Given the description of an element on the screen output the (x, y) to click on. 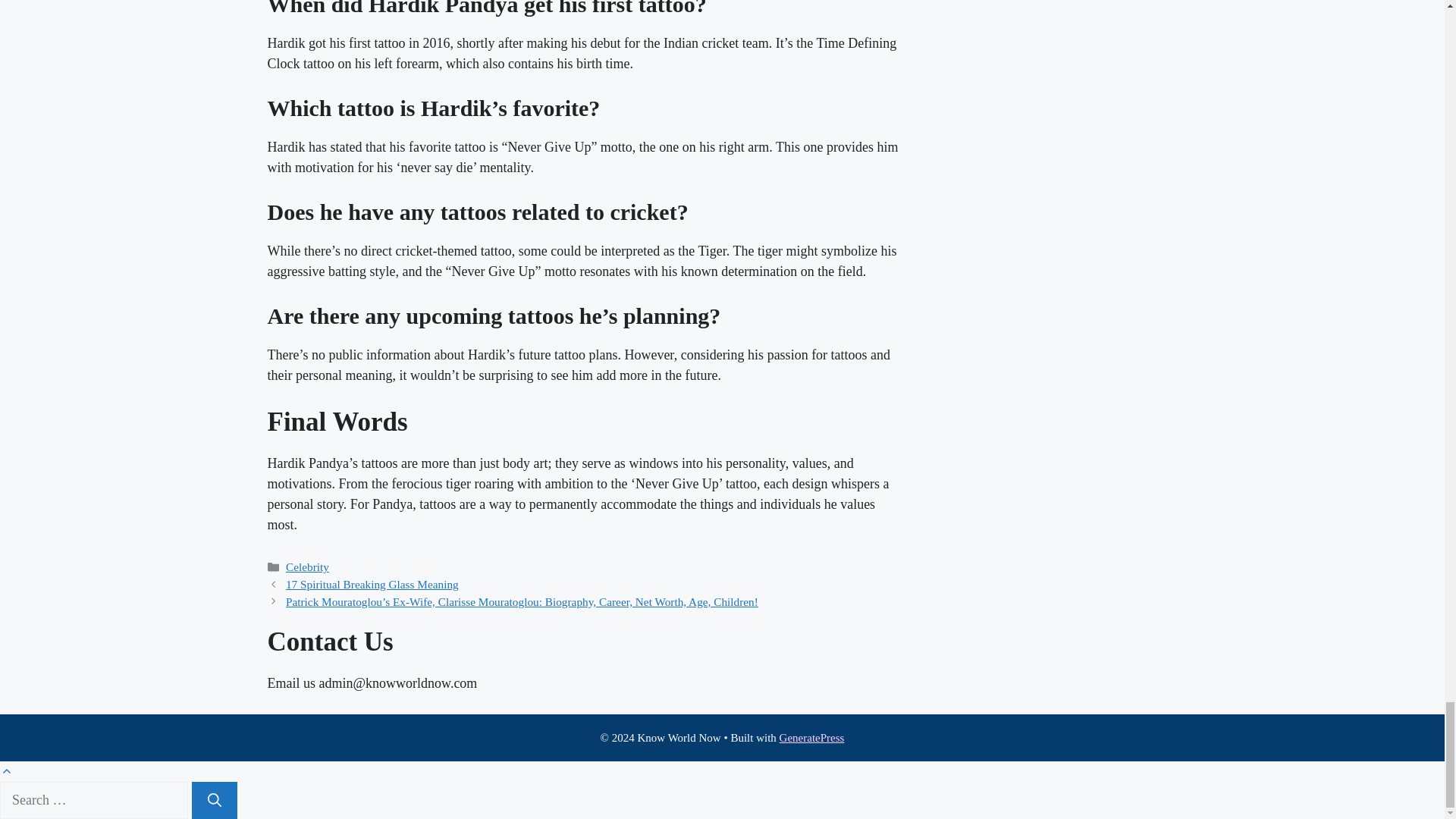
GeneratePress (811, 737)
Celebrity (307, 566)
Scroll back to top (6, 770)
17 Spiritual Breaking Glass Meaning (371, 584)
